Given the description of an element on the screen output the (x, y) to click on. 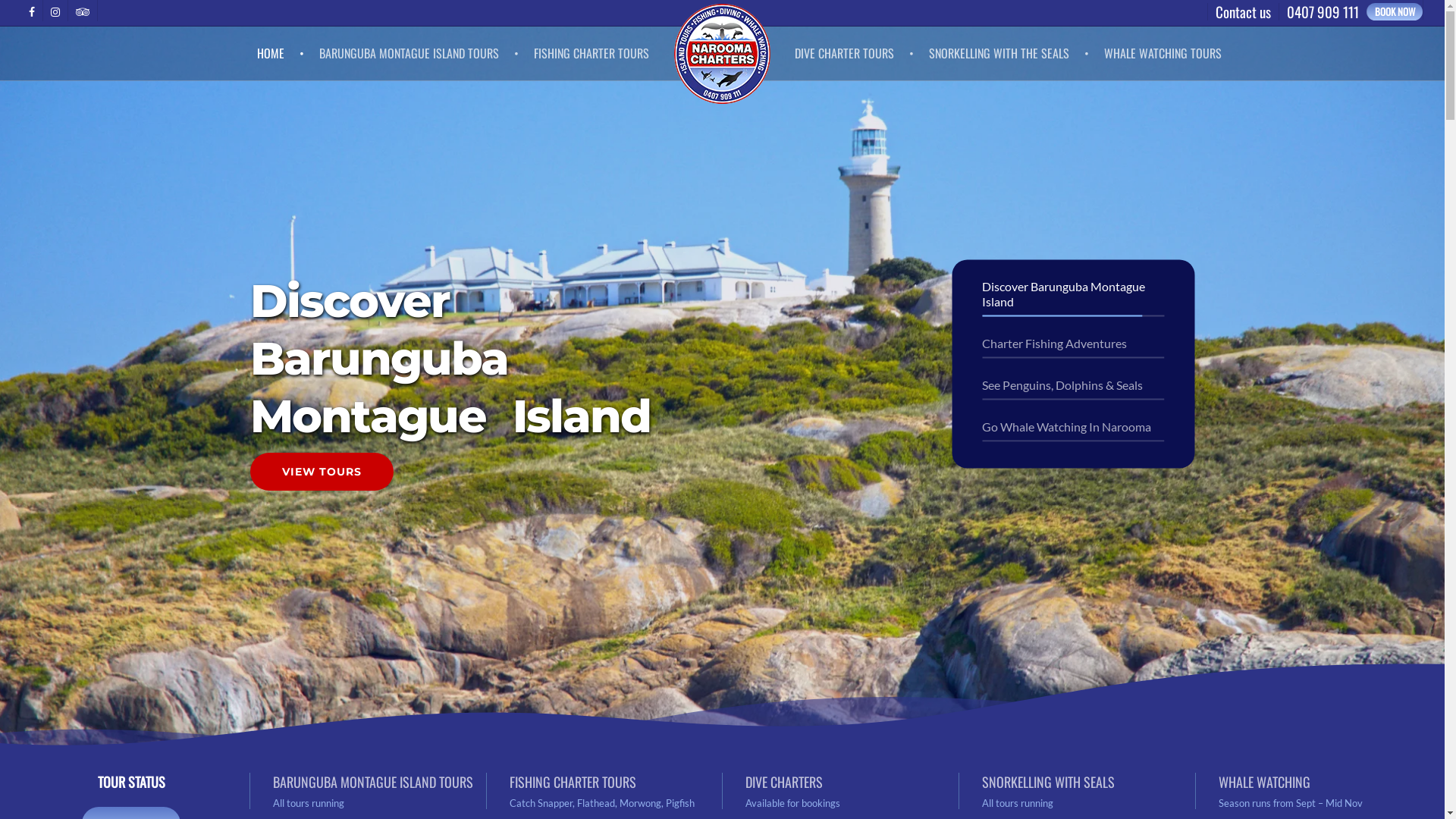
Contact us Element type: text (1242, 11)
DIVE CHARTERS Element type: text (783, 781)
FISHING CHARTER TOURS Element type: text (591, 52)
BARUNGUBA MONTAGUE ISLAND TOURS Element type: text (373, 781)
WHALE WATCHING Element type: text (1264, 781)
0407 909 111 Element type: text (1322, 11)
DIVE CHARTER TOURS Element type: text (854, 52)
FISHING CHARTER TOURS Element type: text (572, 781)
instagram Element type: text (54, 10)
BOOK NOW Element type: text (1394, 11)
BARUNGUBA MONTAGUE ISLAND TOURS Element type: text (418, 52)
HOME Element type: text (280, 52)
vk Element type: text (82, 10)
WHALE WATCHING TOURS Element type: text (1162, 52)
SNORKELLING WITH SEALS Element type: text (1048, 781)
facebook Element type: text (31, 10)
Discover
Barunguba
Montague
Island Element type: text (457, 358)
SNORKELLING WITH THE SEALS Element type: text (1008, 52)
